Given the description of an element on the screen output the (x, y) to click on. 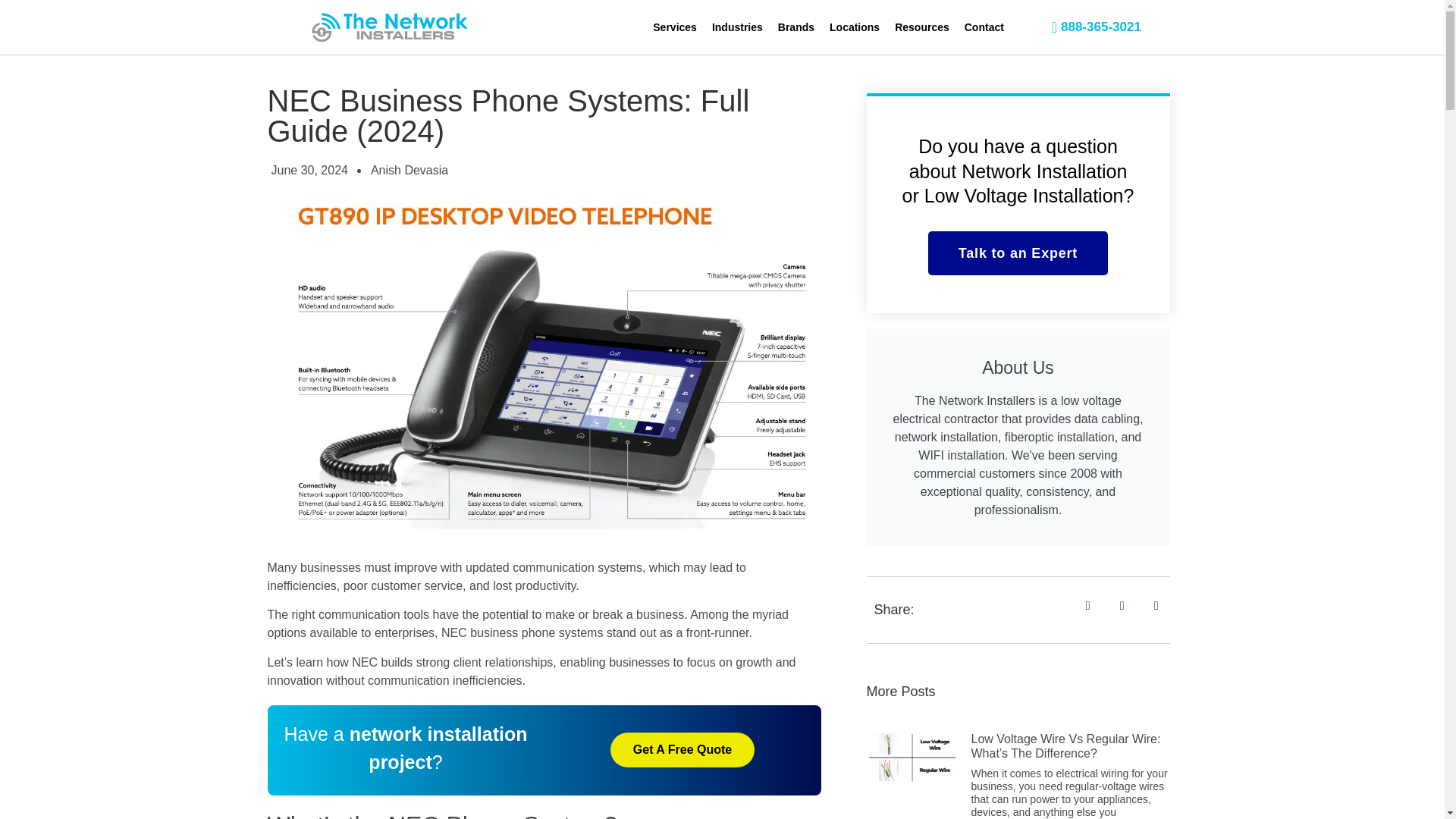
Brands (796, 27)
Industries (737, 27)
Services (674, 27)
